Given the description of an element on the screen output the (x, y) to click on. 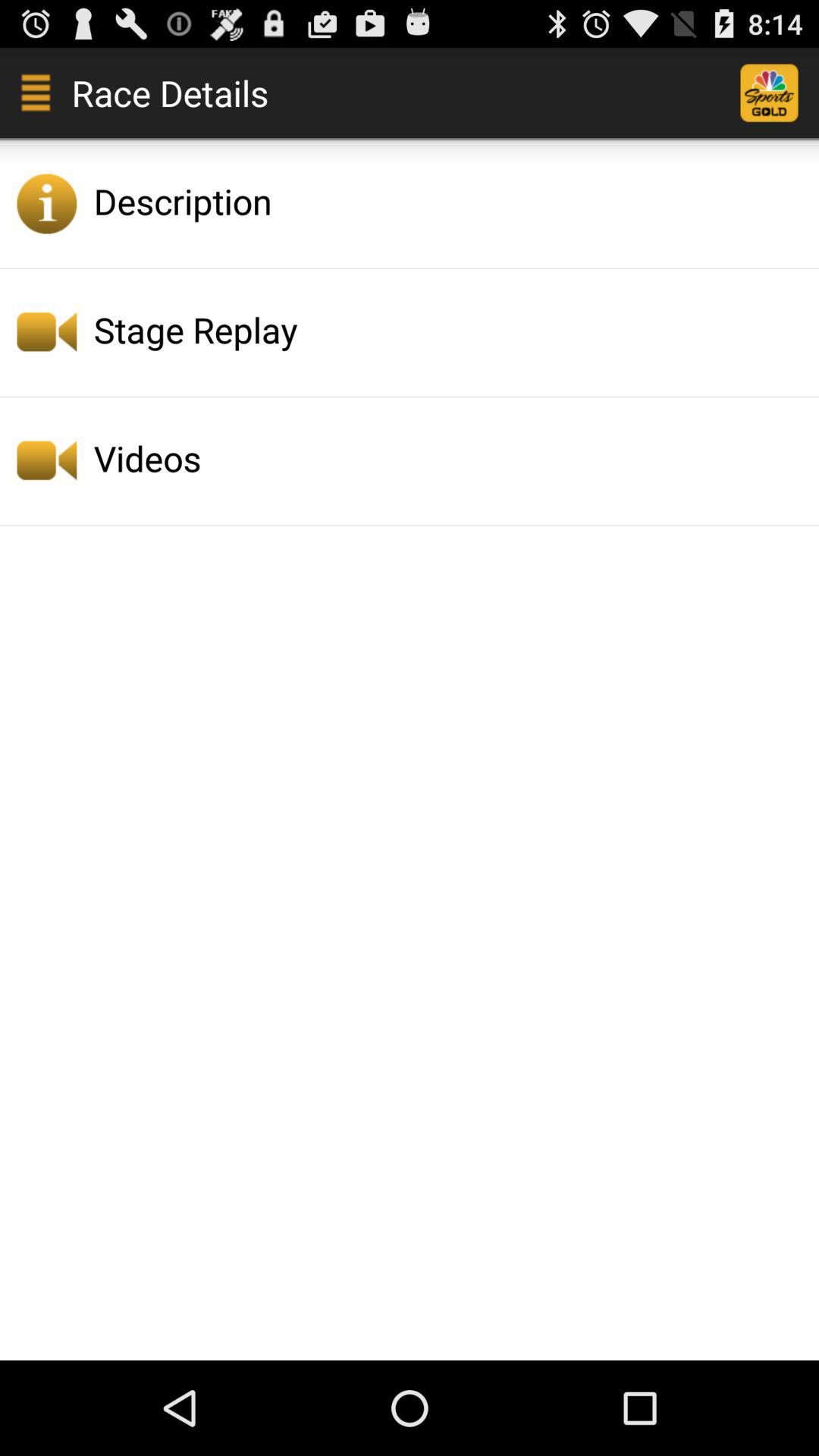
press icon above stage replay (452, 200)
